Given the description of an element on the screen output the (x, y) to click on. 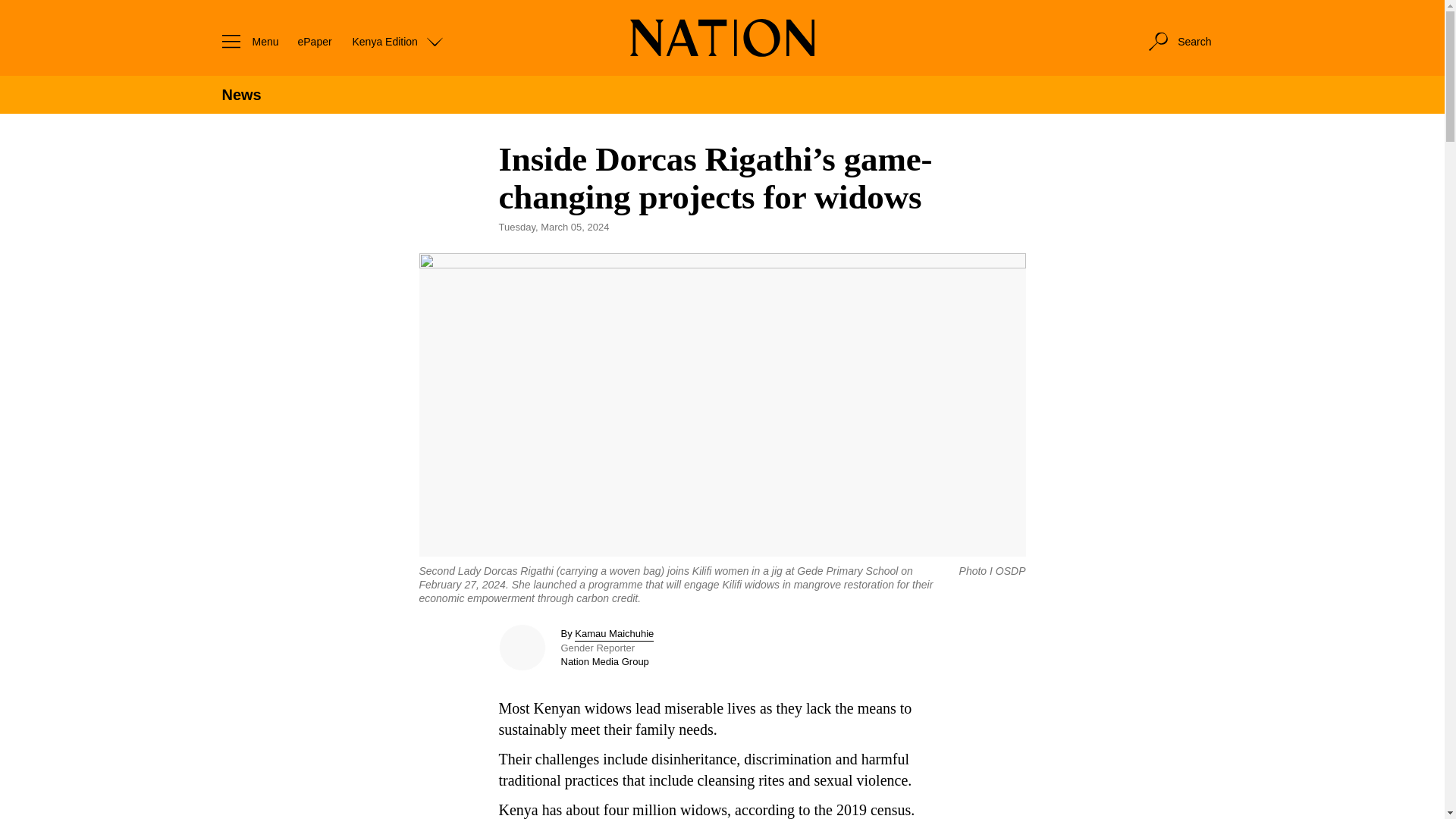
Kenya Edition (398, 41)
Search (1178, 41)
ePaper (314, 41)
News (240, 94)
Menu (246, 41)
